Given the description of an element on the screen output the (x, y) to click on. 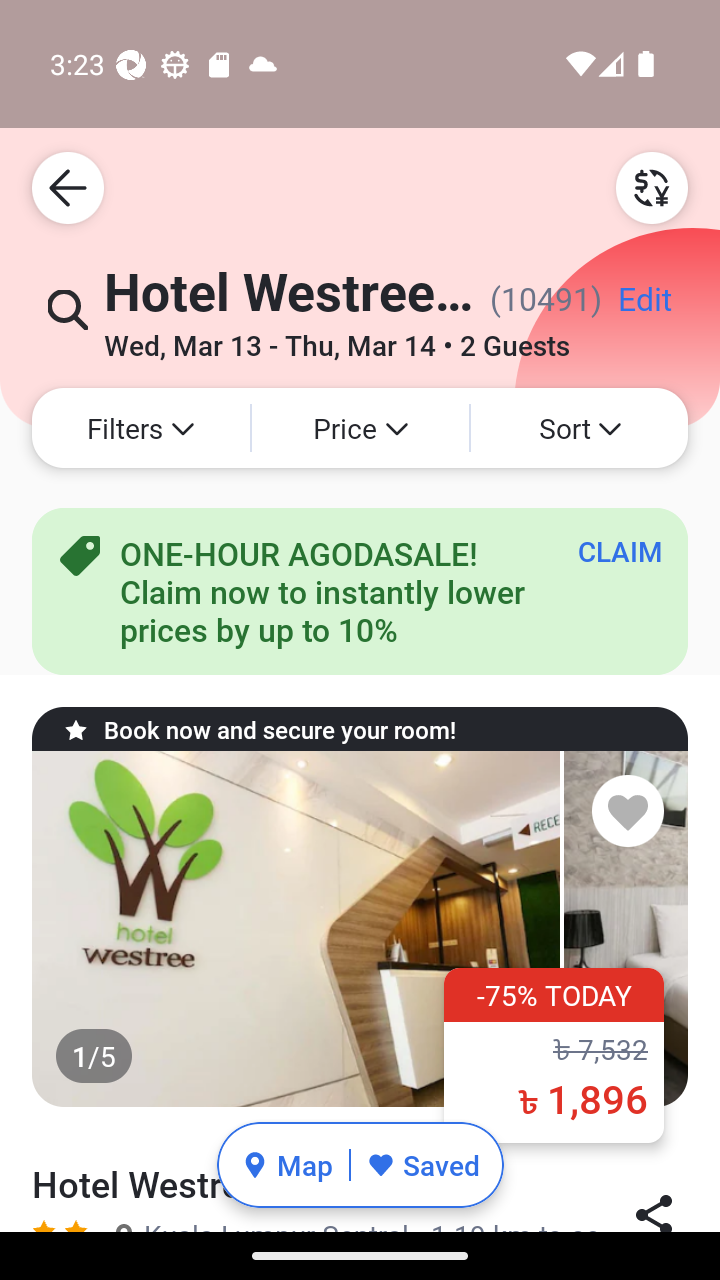
Edit (644, 306)
Wed, Mar 13 - Thu, Mar 14 • 2 Guests (336, 338)
Filters (140, 428)
Price (359, 428)
Sort (579, 428)
CLAIM (620, 551)
1/5 (359, 929)
-75% TODAY ‪৳ 7,532 ‪৳ 1,896 (553, 1055)
Map Saved (359, 1165)
